Given the description of an element on the screen output the (x, y) to click on. 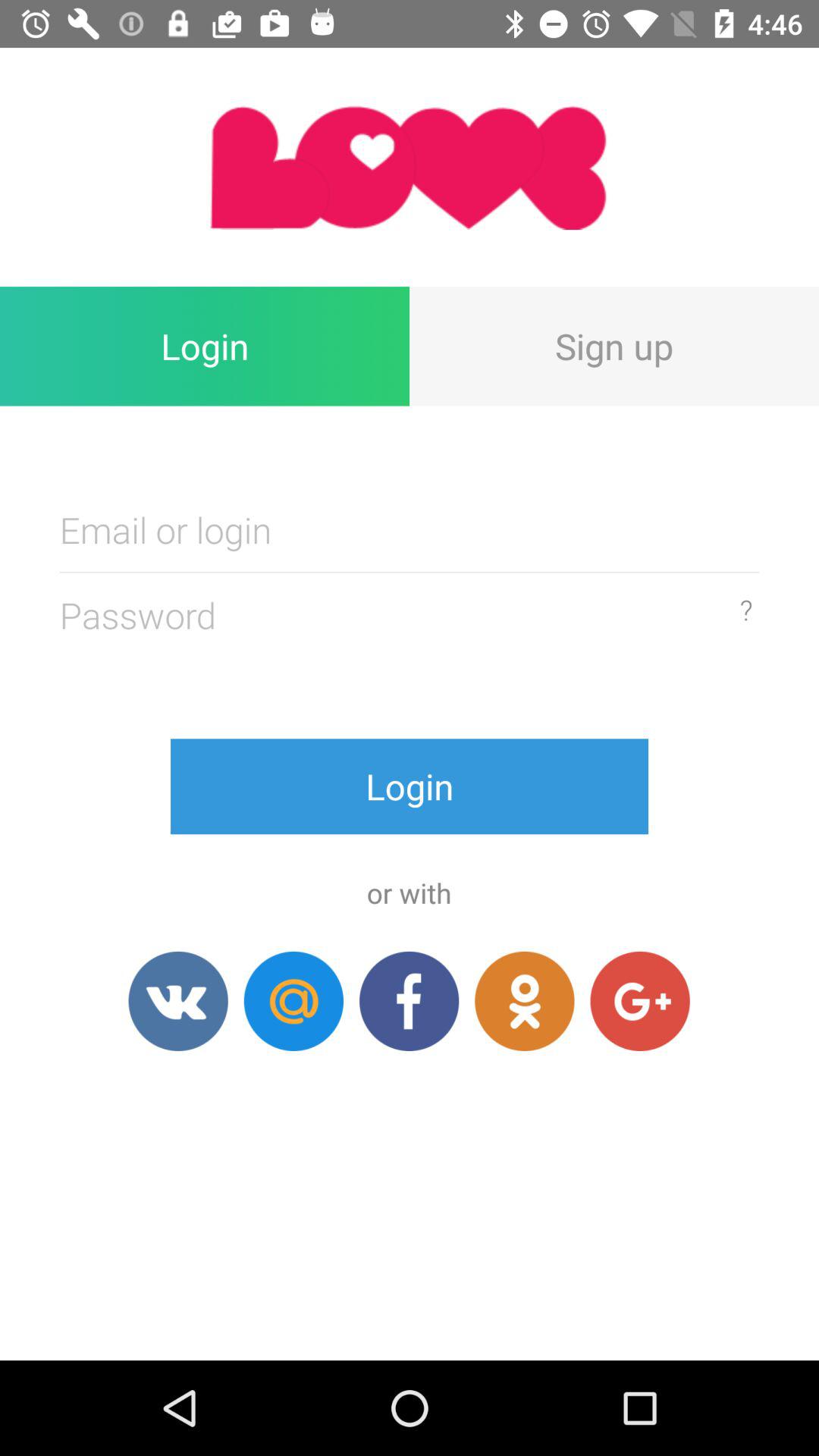
share on google plus (639, 1001)
